Given the description of an element on the screen output the (x, y) to click on. 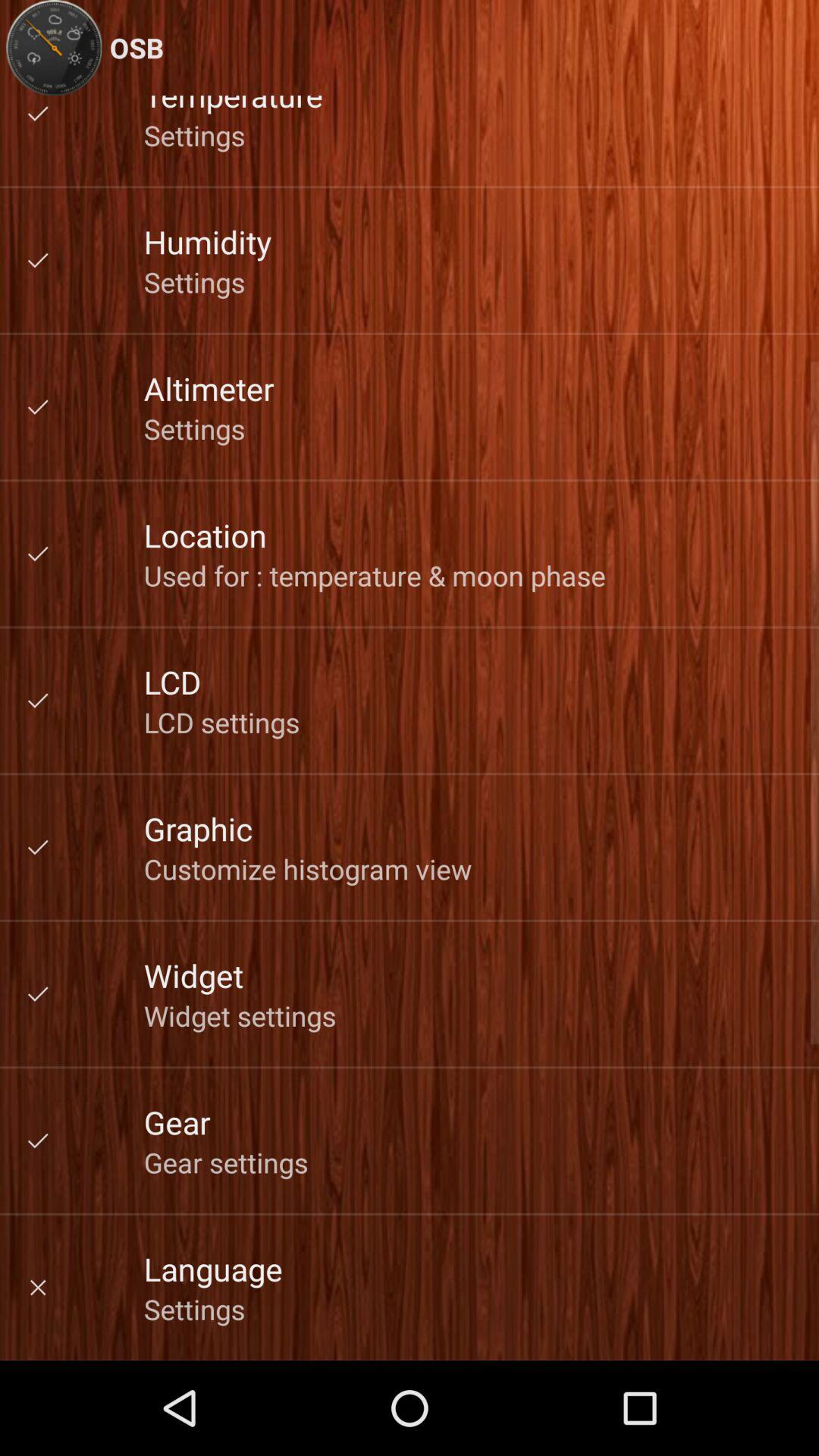
jump to customize histogram view icon (307, 868)
